Given the description of an element on the screen output the (x, y) to click on. 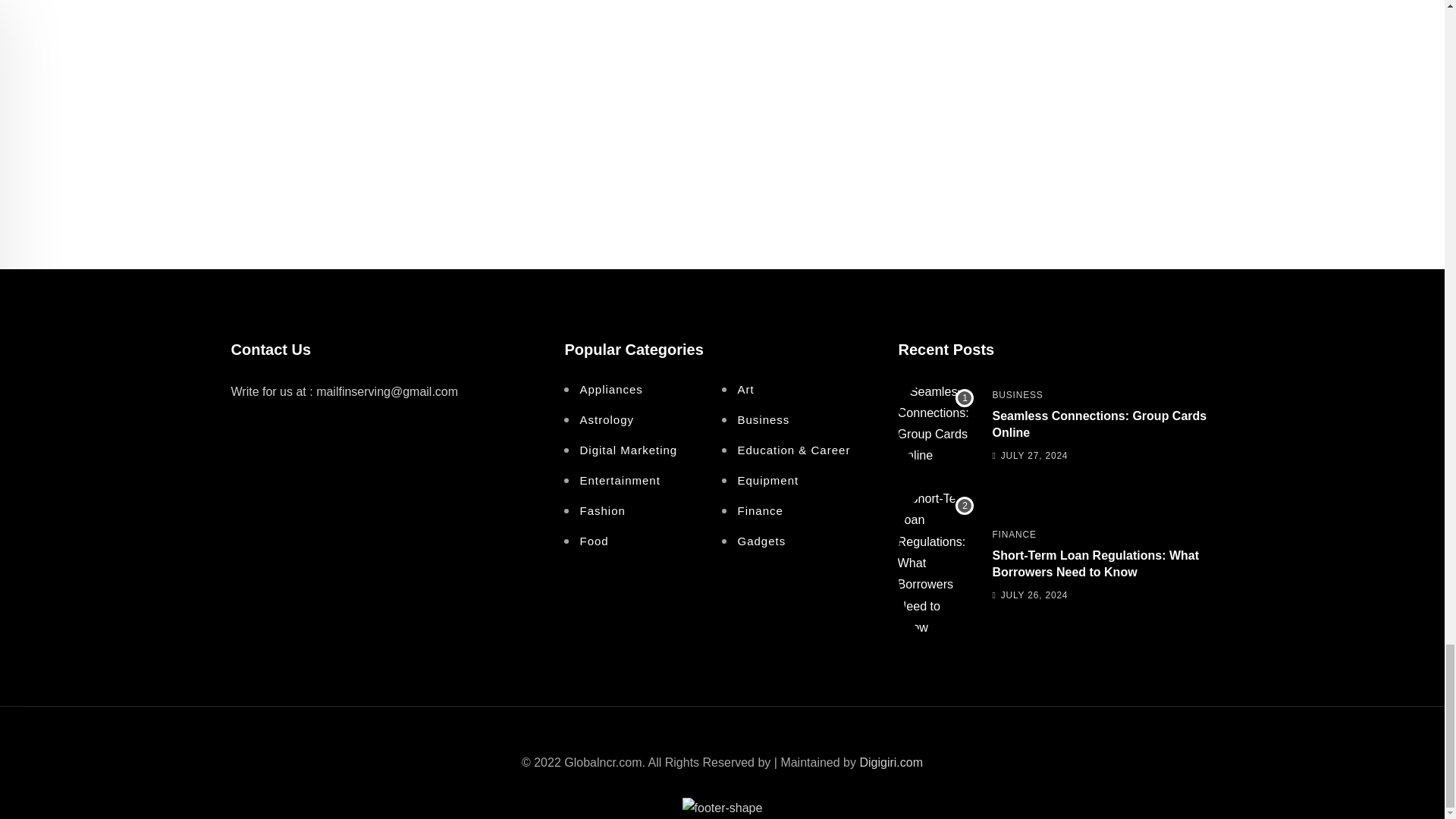
Seamless Connections: Group Cards Online (936, 423)
